Given the description of an element on the screen output the (x, y) to click on. 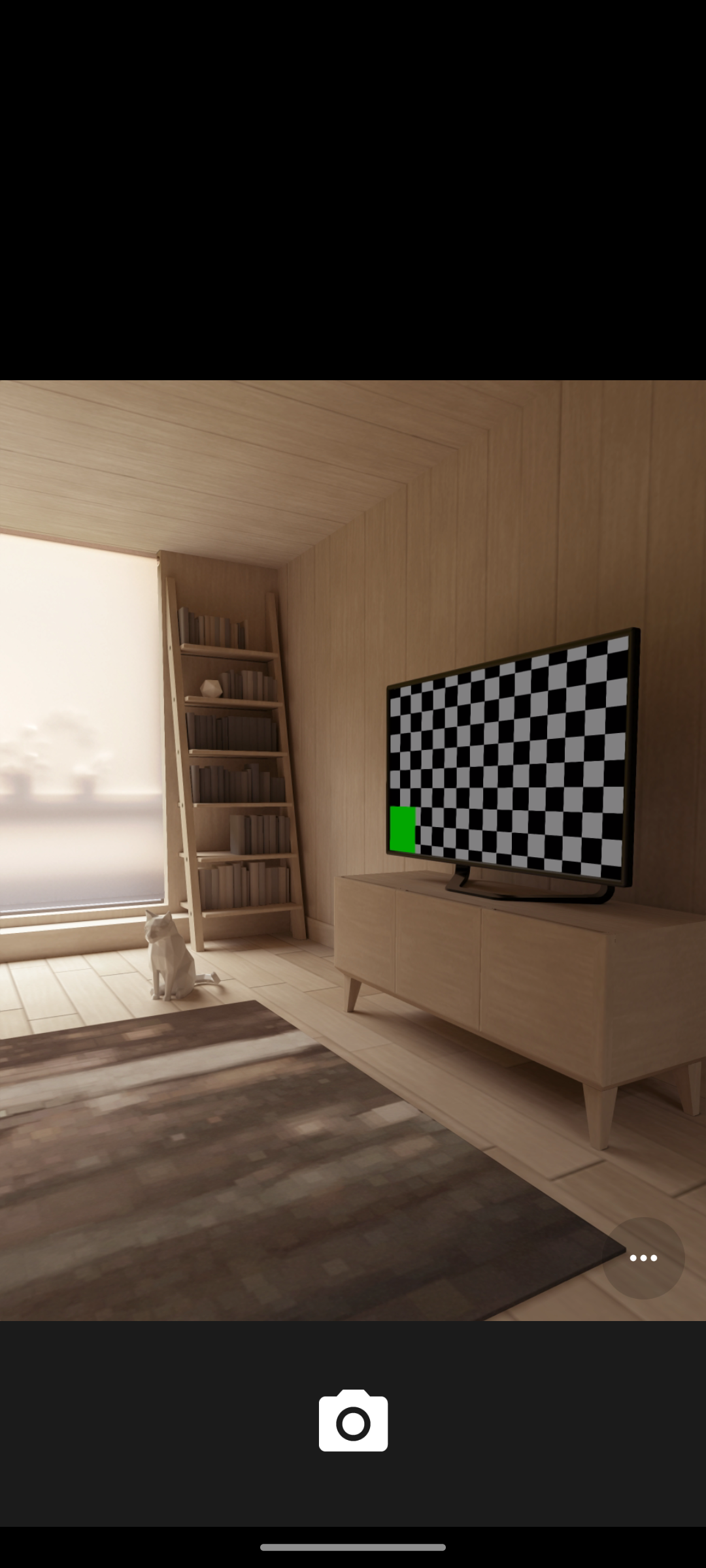
Options (643, 1257)
Shutter (353, 1423)
